Given the description of an element on the screen output the (x, y) to click on. 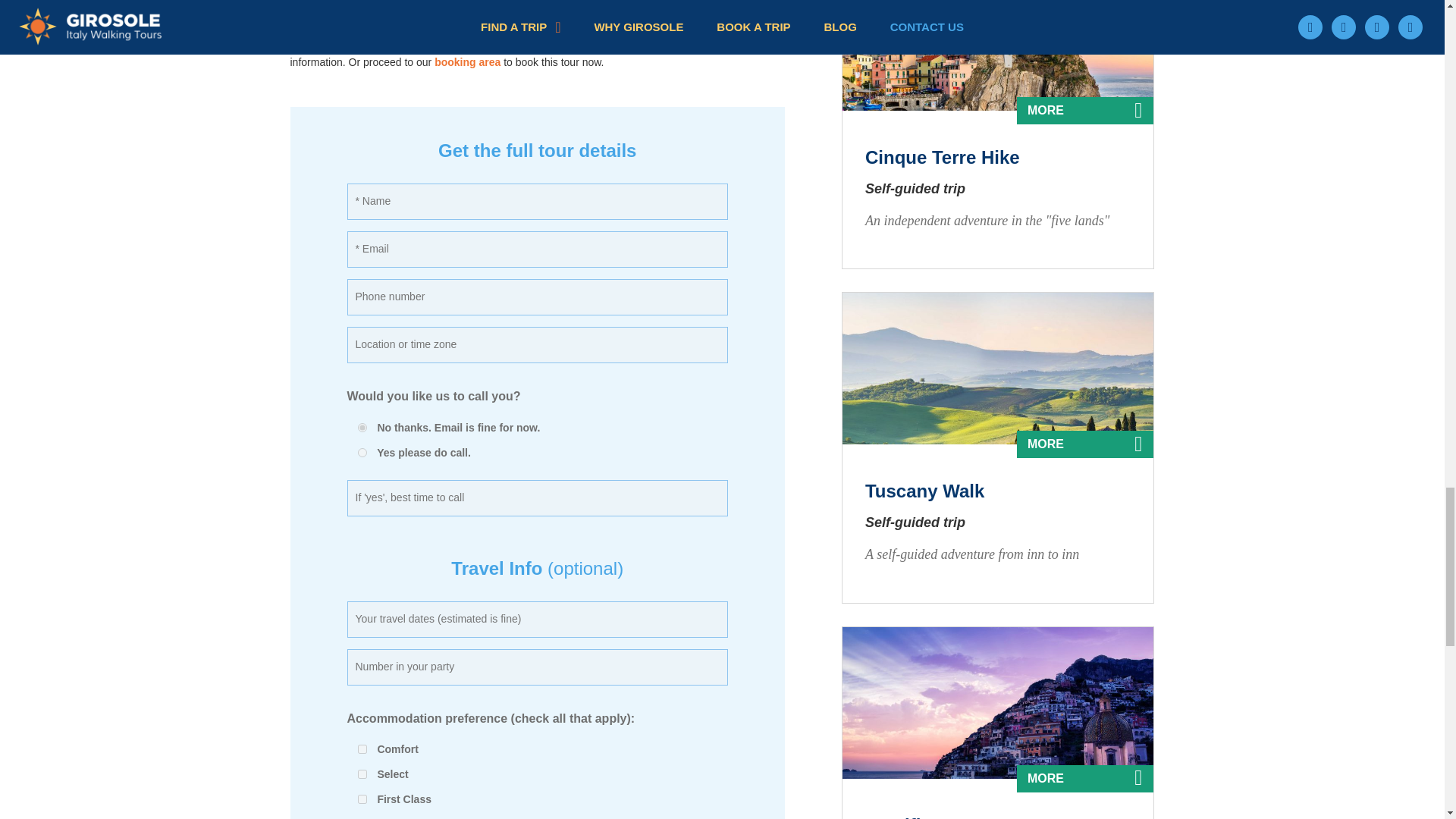
No thanks. Email is fine for now. (362, 427)
Comfort (362, 748)
Yes please do call. (362, 452)
First Class (362, 798)
Select (362, 773)
